Given the description of an element on the screen output the (x, y) to click on. 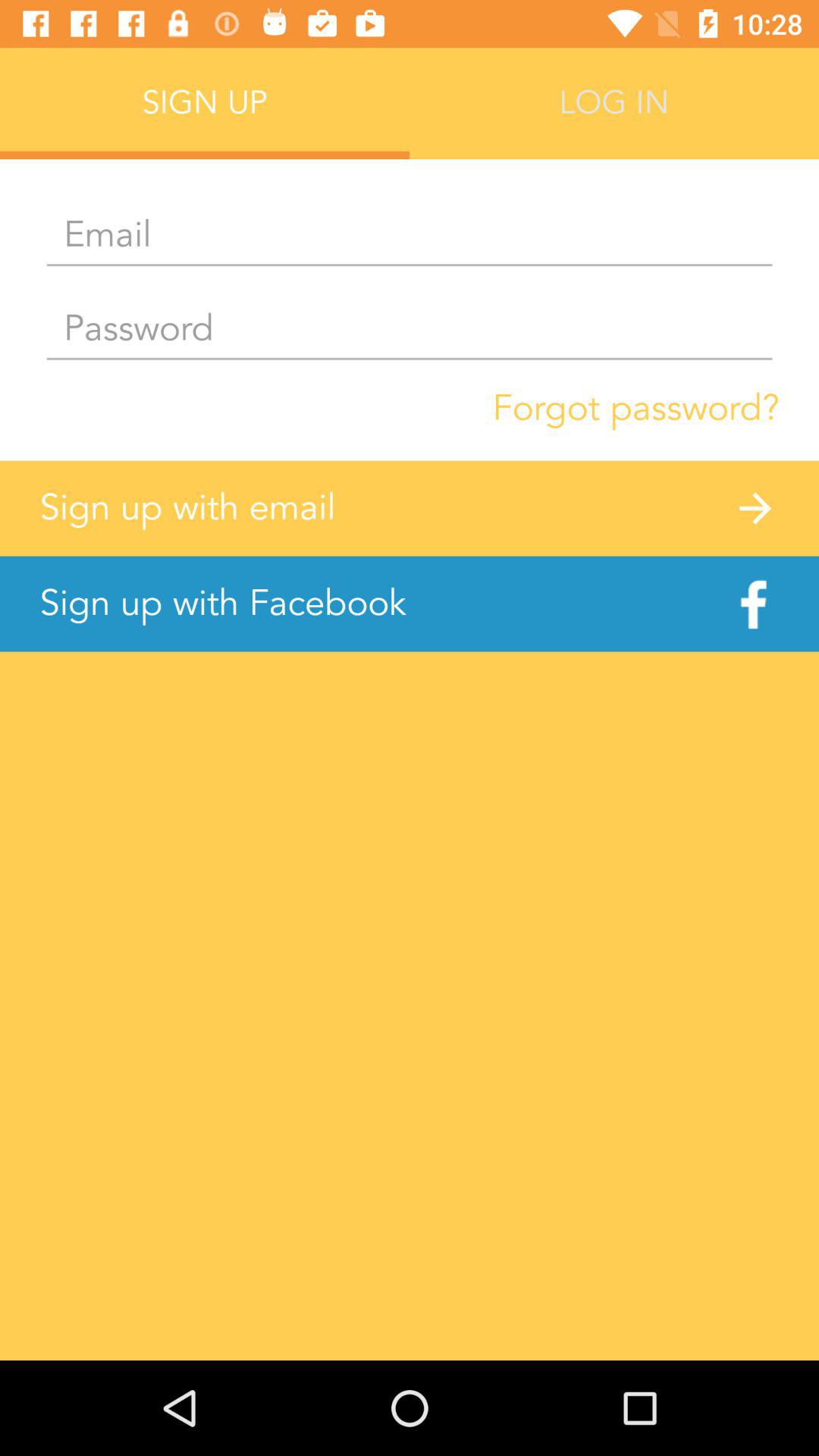
password button (409, 329)
